Given the description of an element on the screen output the (x, y) to click on. 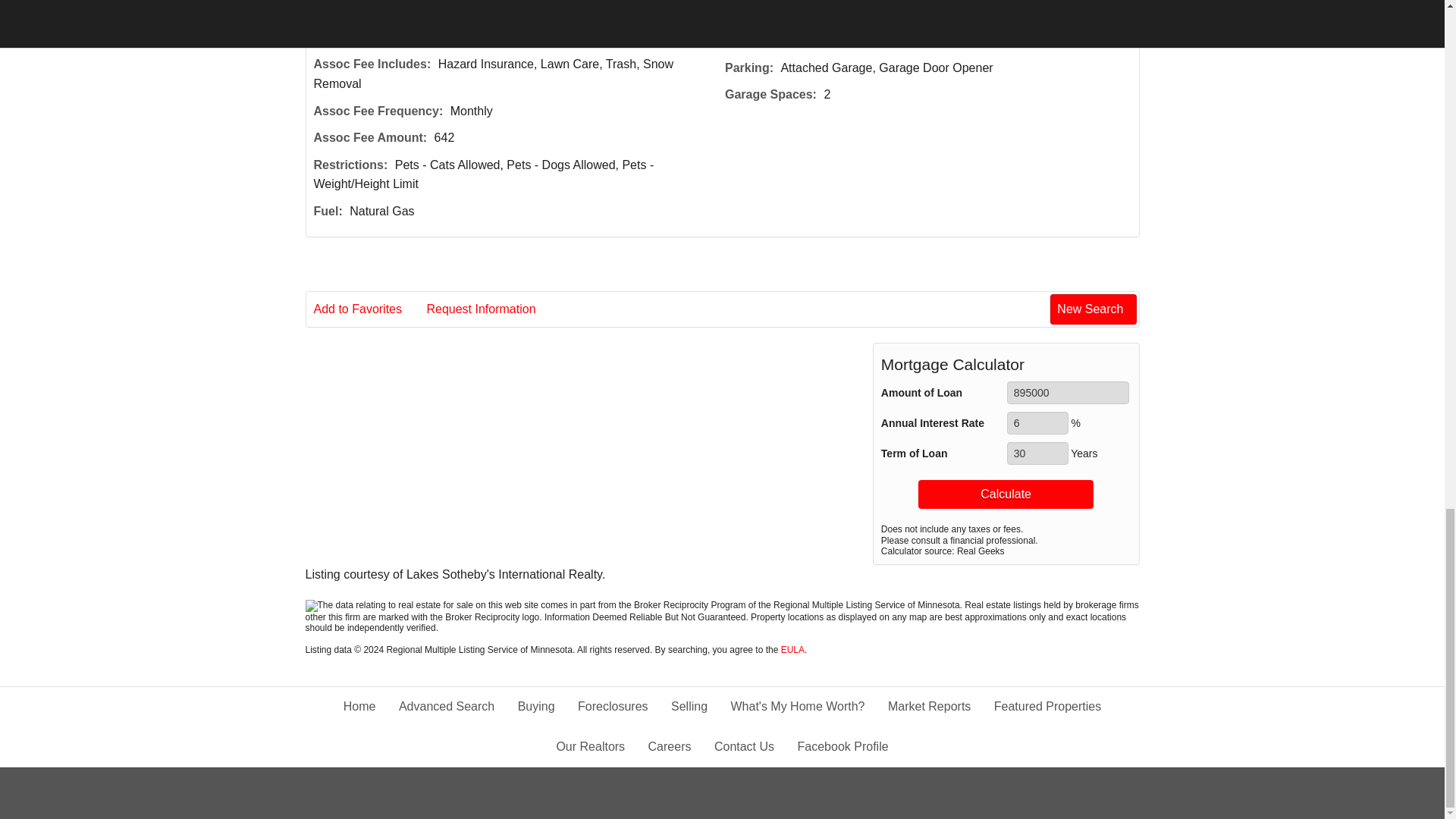
30 (1037, 453)
6 (1037, 422)
895000 (1068, 392)
